Given the description of an element on the screen output the (x, y) to click on. 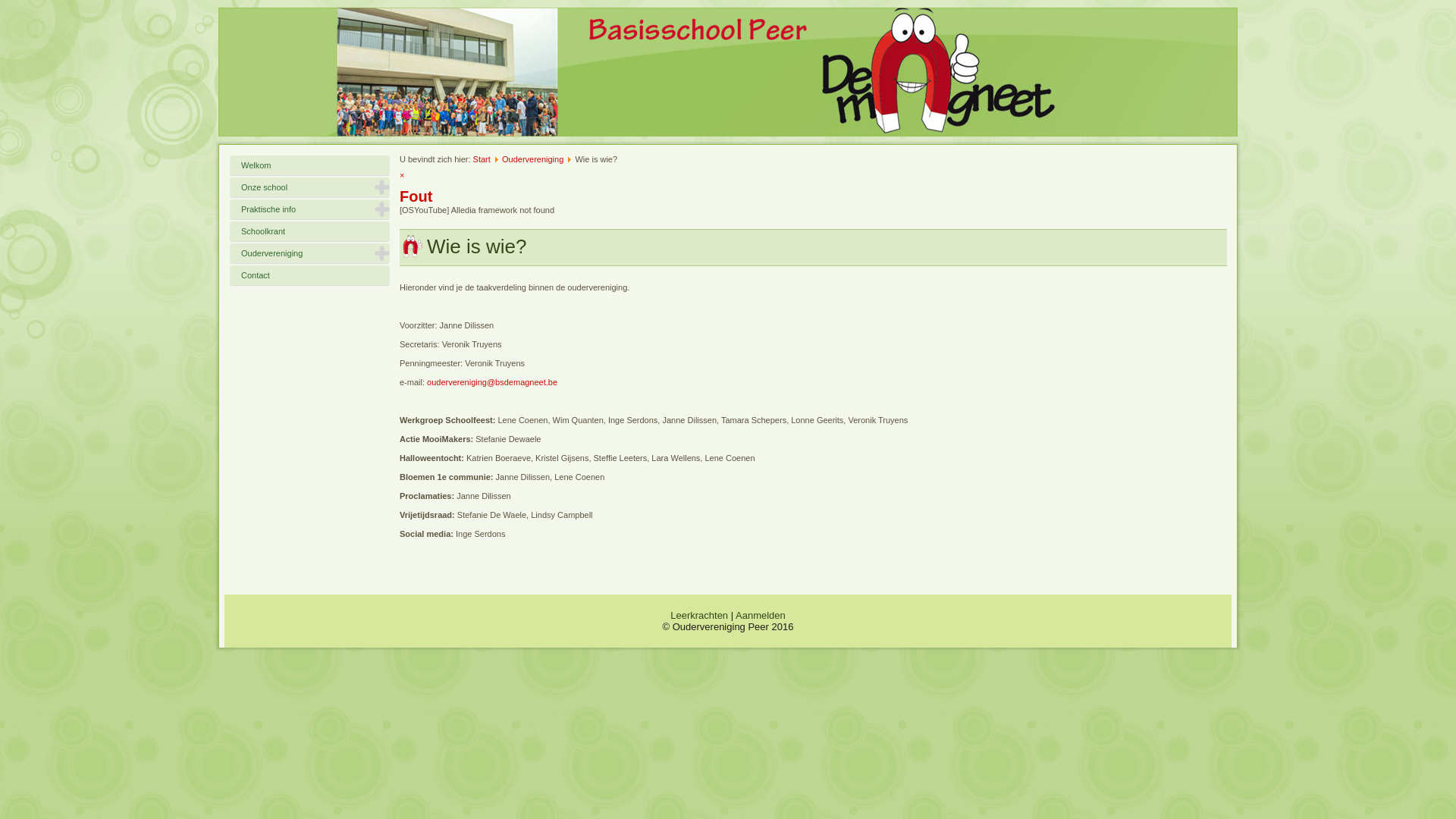
Oudervereniging Element type: text (309, 253)
Leerkrachten Element type: text (699, 615)
oudervereniging@bsdemagneet.be Element type: text (491, 381)
Oudervereniging Element type: text (532, 158)
Aanmelden Element type: text (760, 615)
Schoolkrant Element type: text (309, 231)
Start Element type: text (481, 158)
Praktische info Element type: text (309, 209)
Contact Element type: text (309, 275)
Welkom Element type: text (309, 165)
Onze school Element type: text (309, 187)
